Given the description of an element on the screen output the (x, y) to click on. 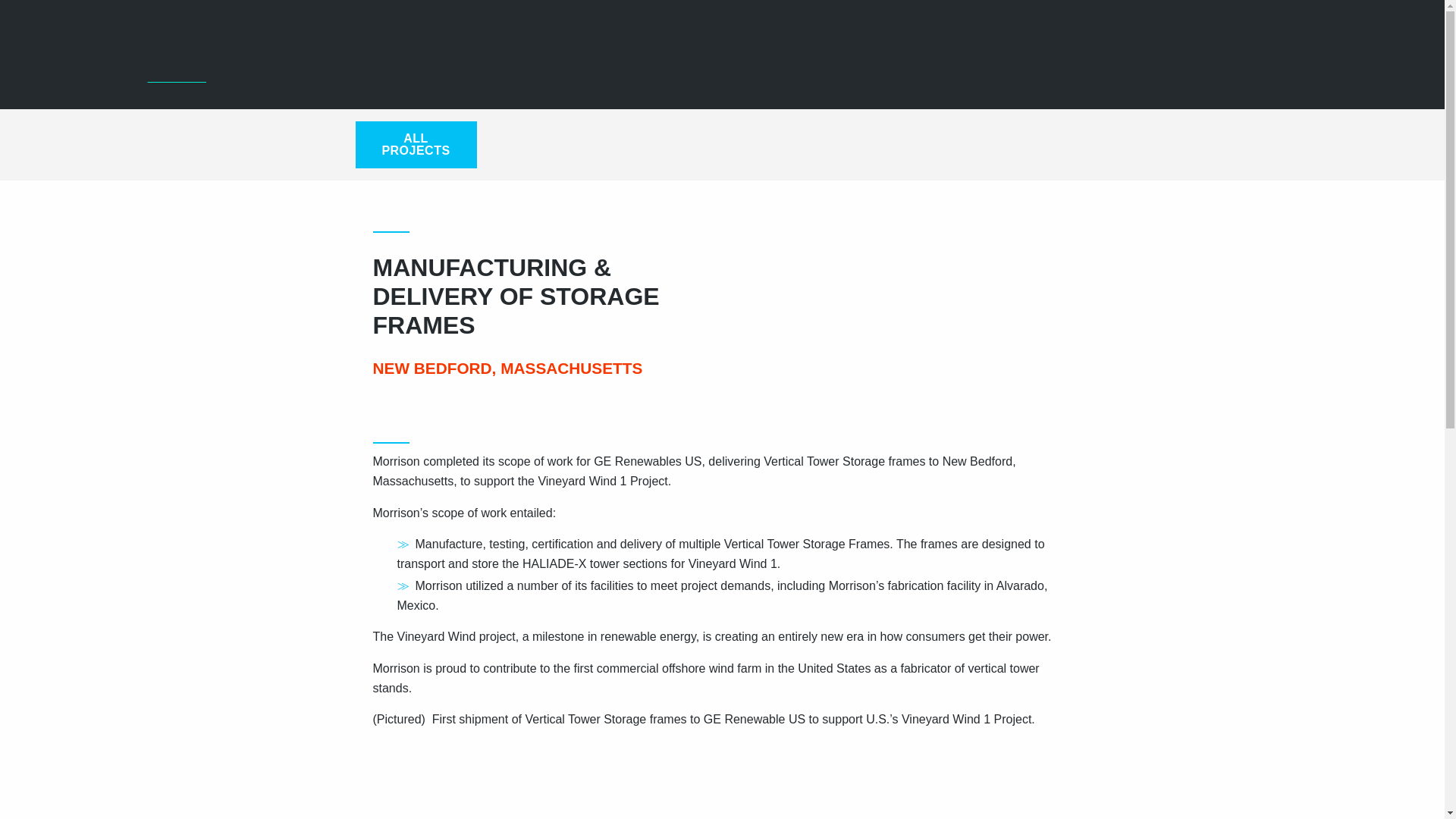
CAREERS (1186, 43)
YouTube video player (584, 780)
FACILITIES (1205, 68)
SERVICES (1111, 68)
ALL PROJECTS (415, 144)
PROJECTS (1301, 68)
CONTACT (1378, 43)
MEDIA (1381, 68)
ABOUT (1031, 68)
